Given the description of an element on the screen output the (x, y) to click on. 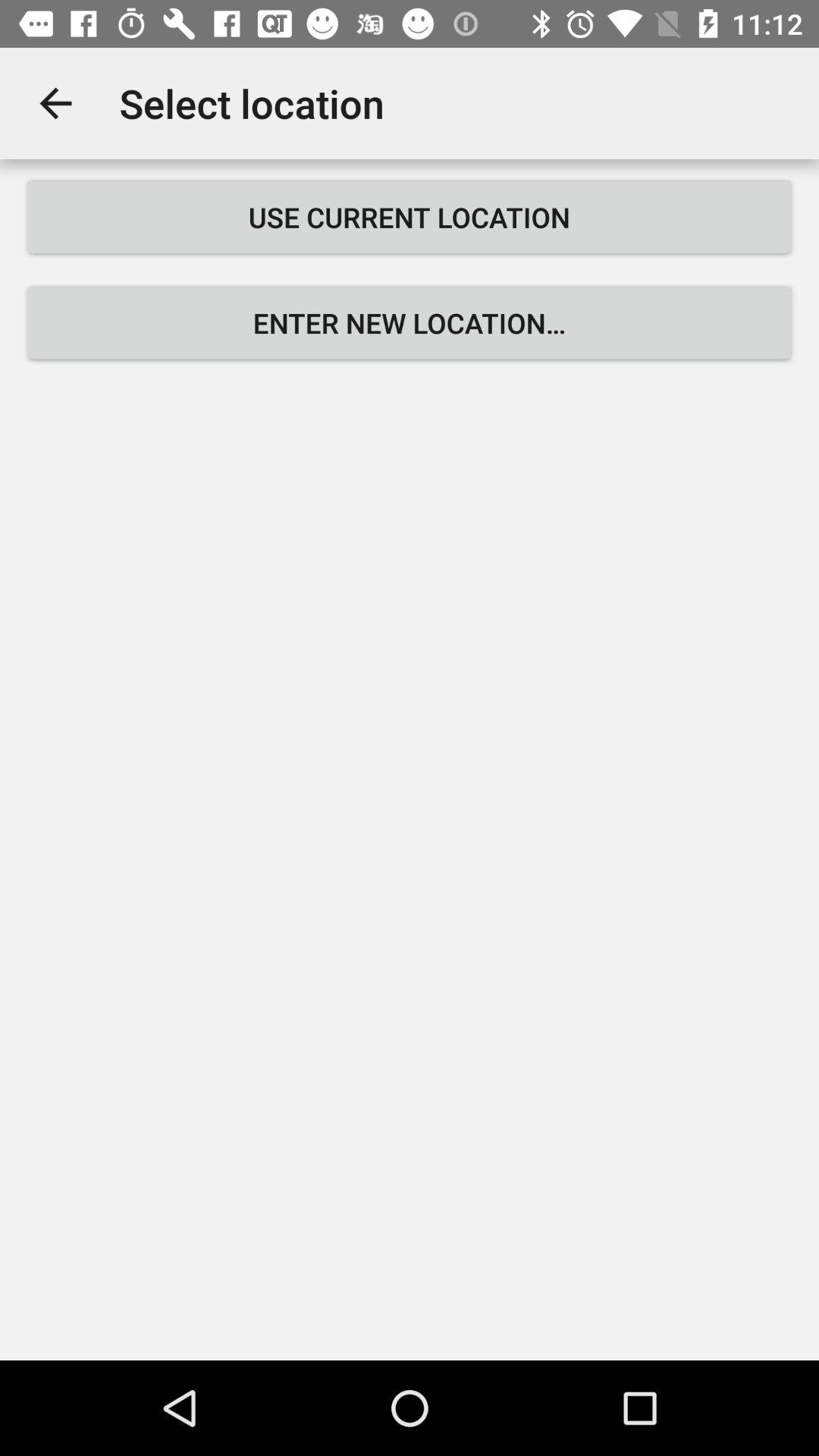
tap item below the use current location item (409, 322)
